Given the description of an element on the screen output the (x, y) to click on. 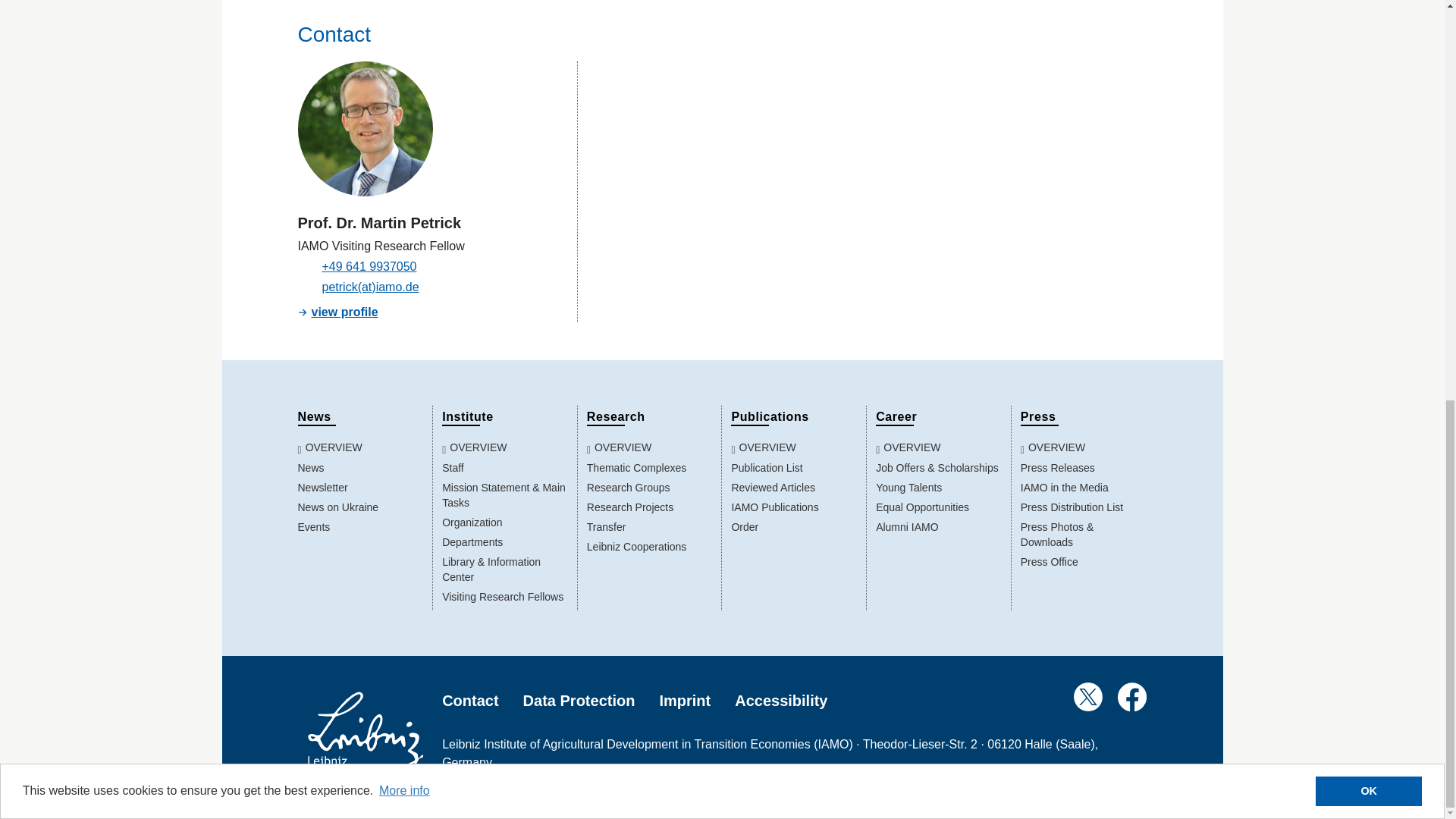
More info (404, 10)
OK (1369, 12)
